Given the description of an element on the screen output the (x, y) to click on. 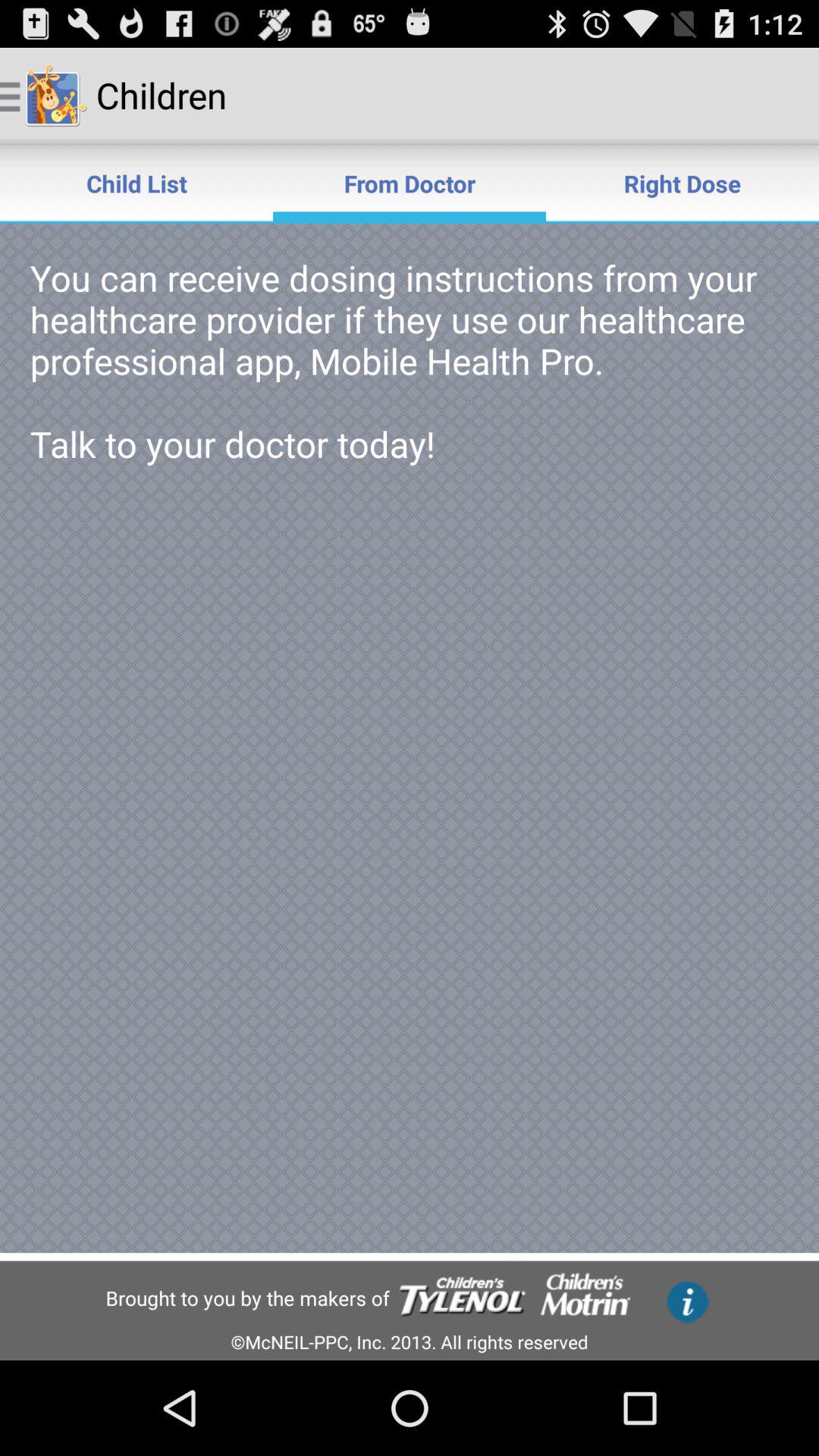
launch the right dose icon (682, 183)
